Given the description of an element on the screen output the (x, y) to click on. 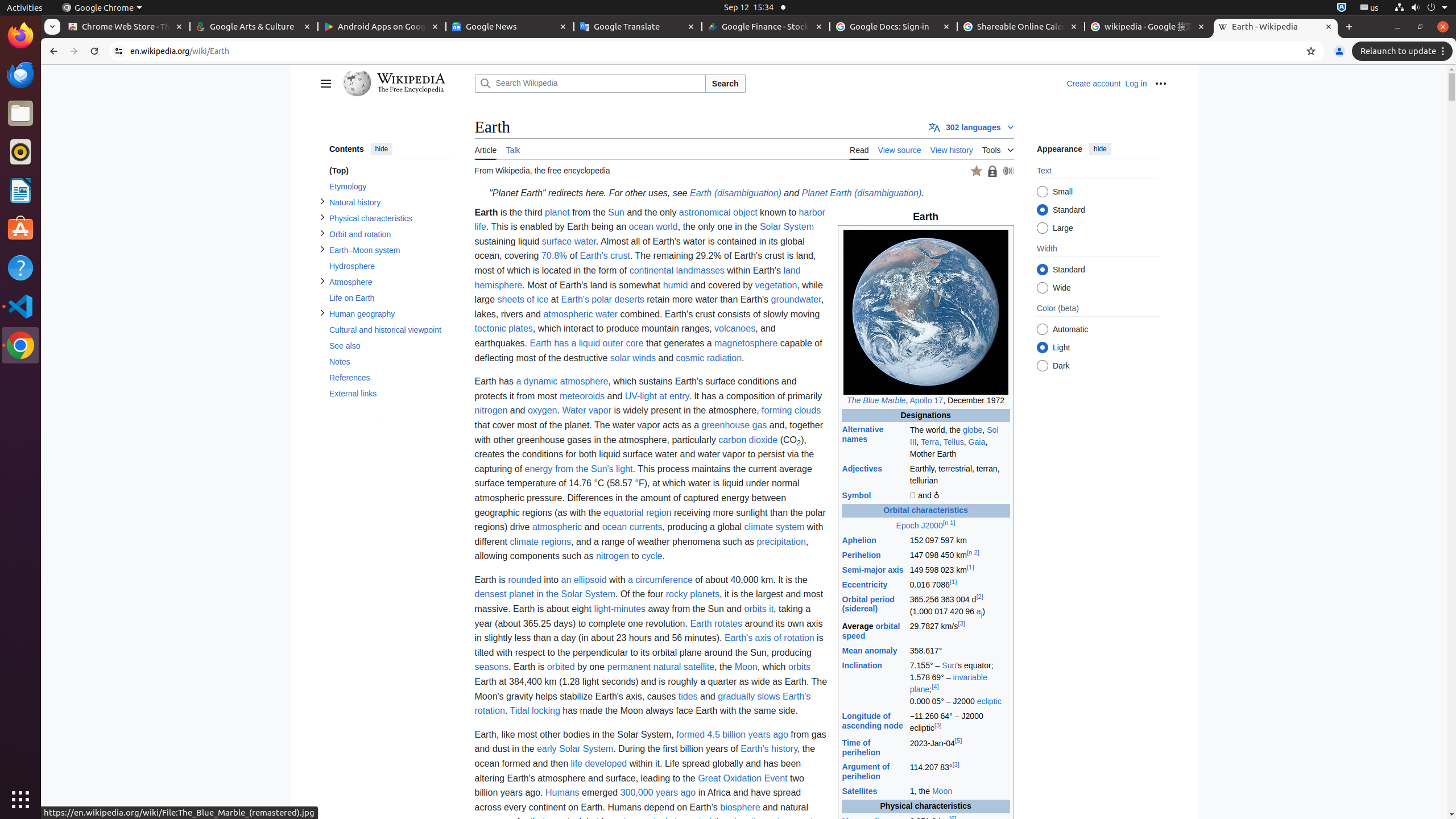
a Element type: link (978, 611)
Orbit and rotation Element type: link (390, 234)
Physical characteristics Element type: link (390, 218)
Argument of perihelion Element type: link (865, 771)
nitrogen Element type: link (490, 410)
